Given the description of an element on the screen output the (x, y) to click on. 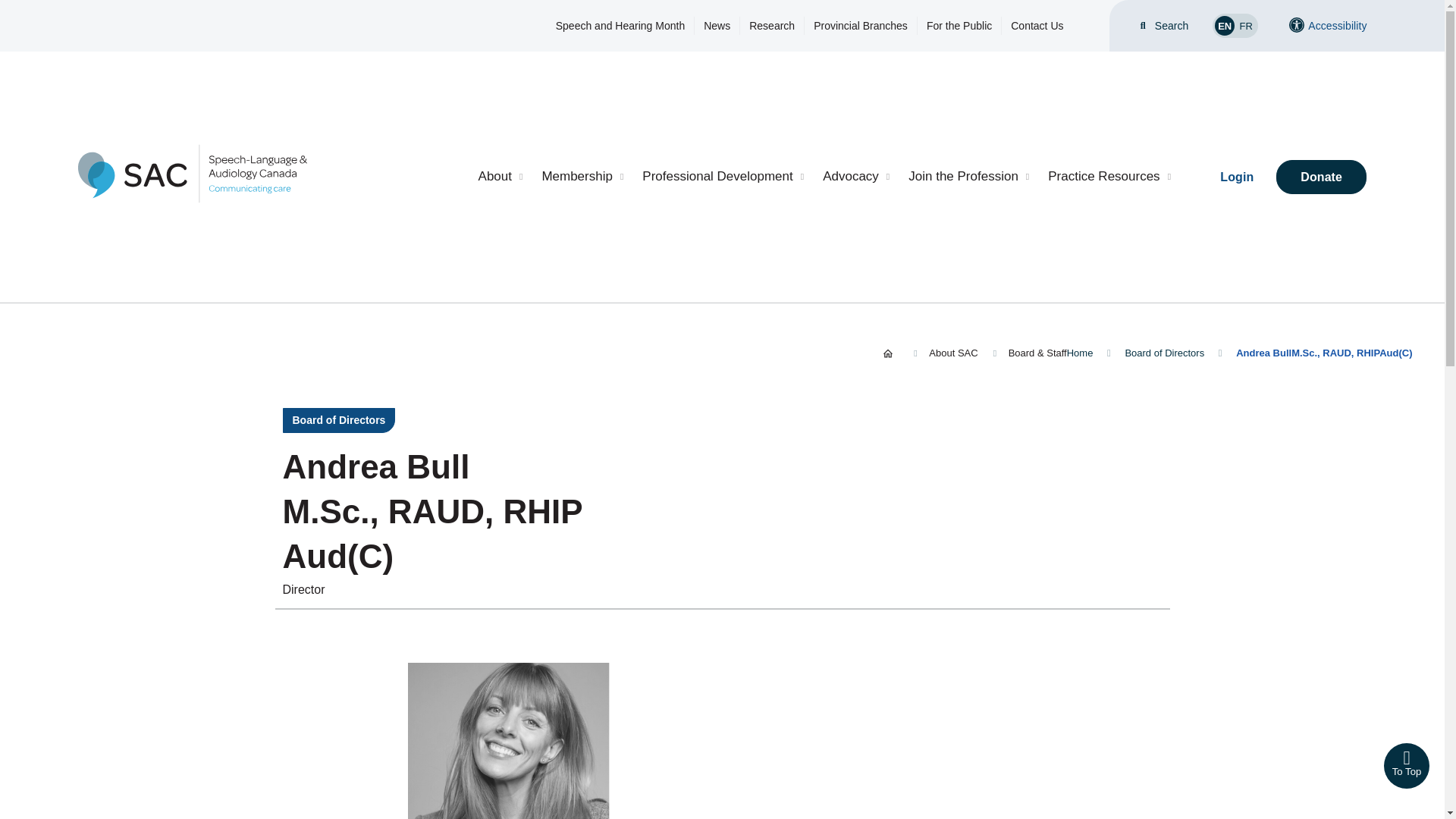
Research (771, 25)
Contact Us (1036, 25)
About (500, 176)
Accessibility (1327, 25)
Speech and Hearing Month (620, 25)
EN (1224, 25)
Provincial Branches (860, 25)
Membership (582, 176)
FR (1245, 25)
For the Public (958, 25)
